Given the description of an element on the screen output the (x, y) to click on. 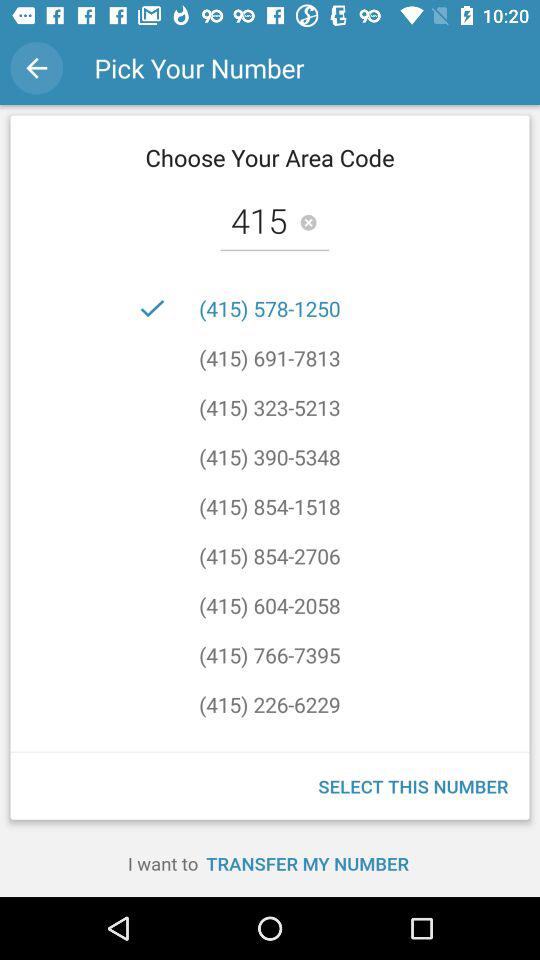
click the icon to the left of pick your number (36, 68)
